Given the description of an element on the screen output the (x, y) to click on. 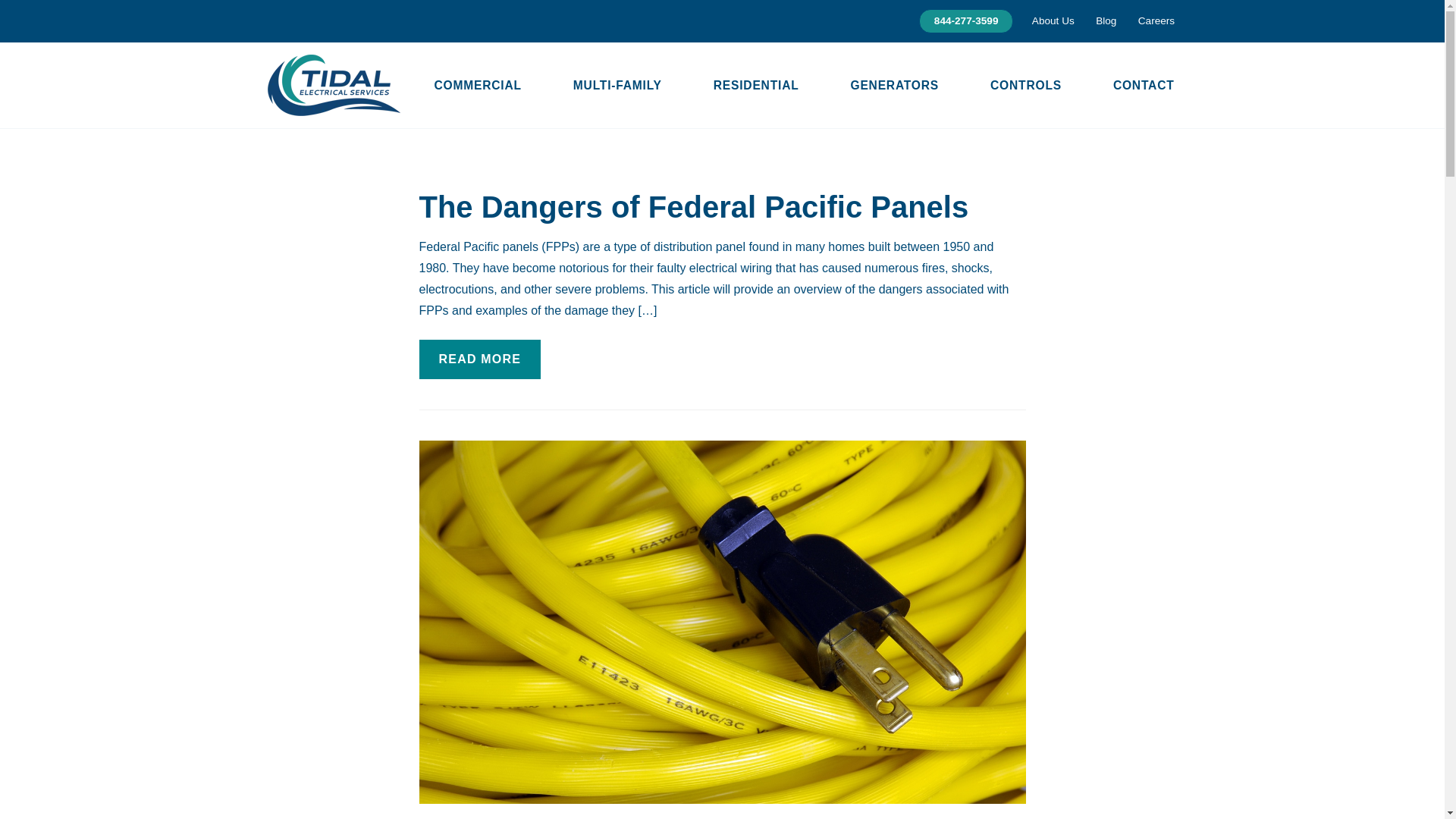
CONTACT (1142, 84)
The Dangers of Federal Pacific Panels (693, 206)
GENERATORS (894, 84)
844-277-3599 (965, 20)
MULTI-FAMILY (617, 84)
Careers (1155, 20)
About Us (1053, 20)
RESIDENTIAL (756, 84)
Blog (1106, 20)
COMMERCIAL (477, 84)
READ MORE (479, 359)
CONTROLS (1025, 84)
Tidal Electrical Services (332, 85)
